Given the description of an element on the screen output the (x, y) to click on. 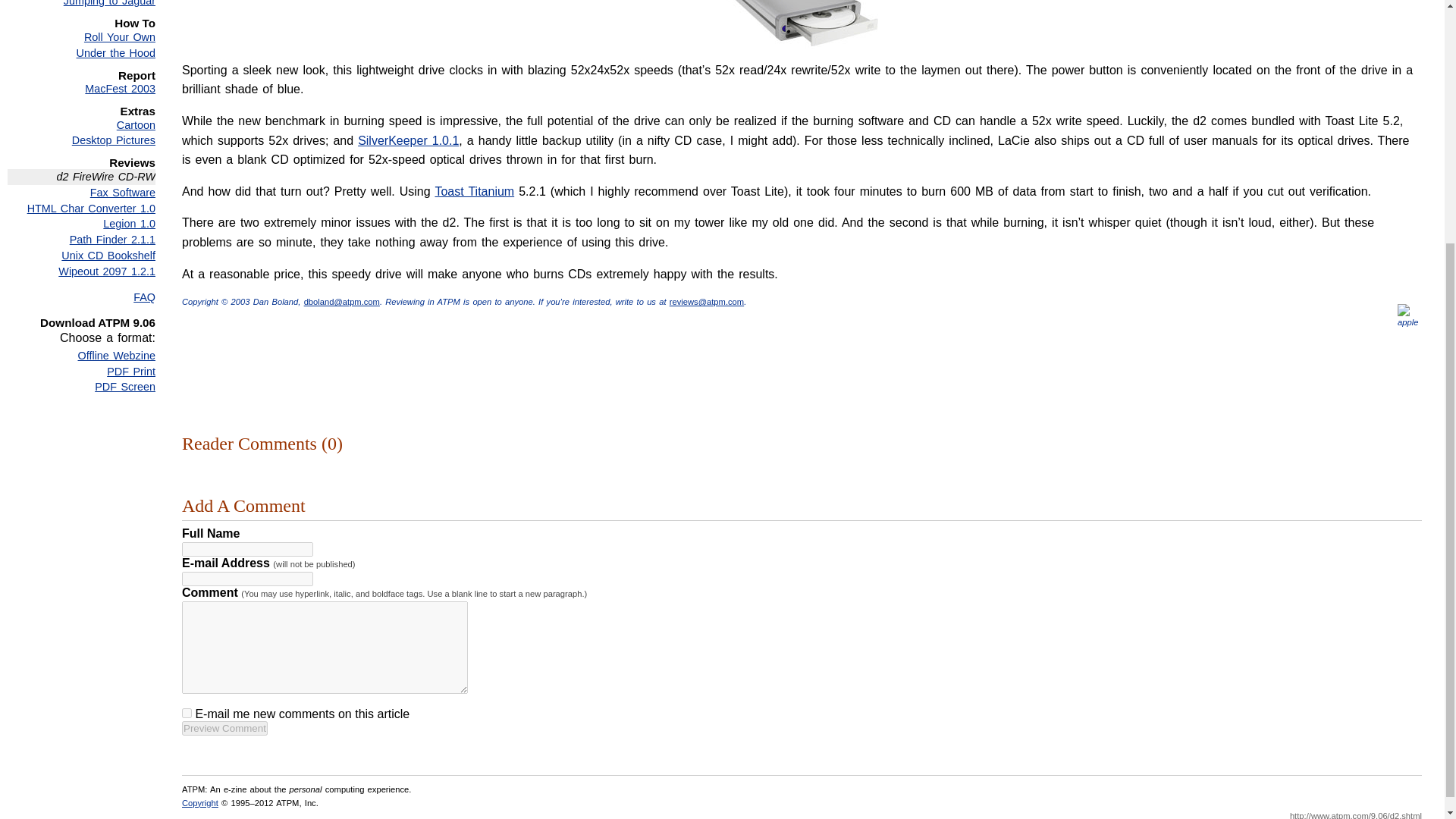
MacFest 2003 (81, 89)
Preview Comment (224, 728)
Legion 1.0 (81, 223)
HTML Char Converter 1.0 (81, 208)
Roll Your Own (81, 37)
Wipeout 2097 1.2.1 (81, 271)
Desktop Pictures (81, 140)
Unix CD Bookshelf (81, 255)
PDF Screen (81, 386)
Jumping to Jaguar (81, 4)
